Given the description of an element on the screen output the (x, y) to click on. 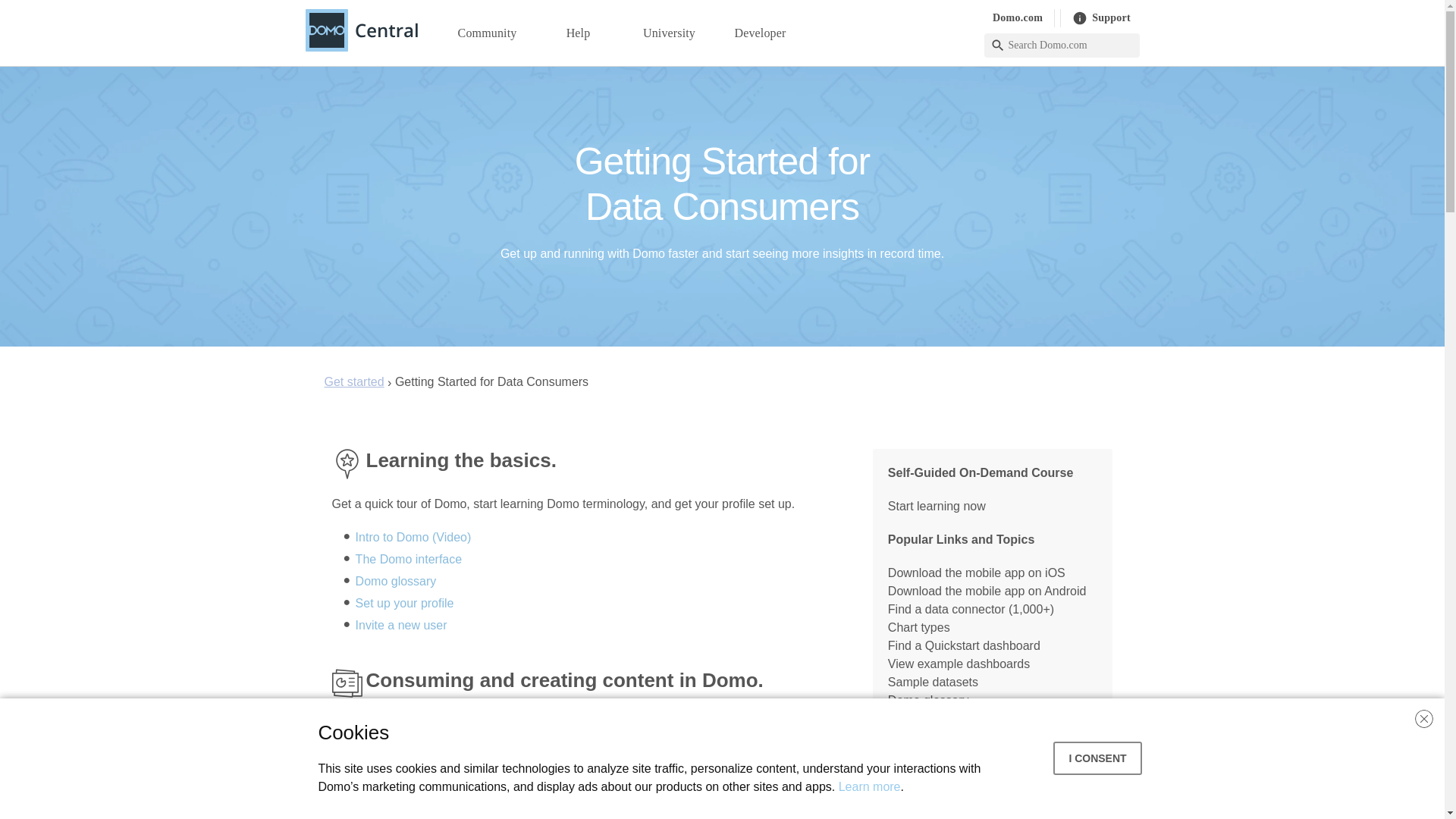
The Domo interface (409, 558)
Invite a new user (400, 625)
Get started (354, 381)
Support (1101, 17)
Domo.com (1017, 17)
Set up your profile (404, 603)
Domo glossary (395, 581)
